Given the description of an element on the screen output the (x, y) to click on. 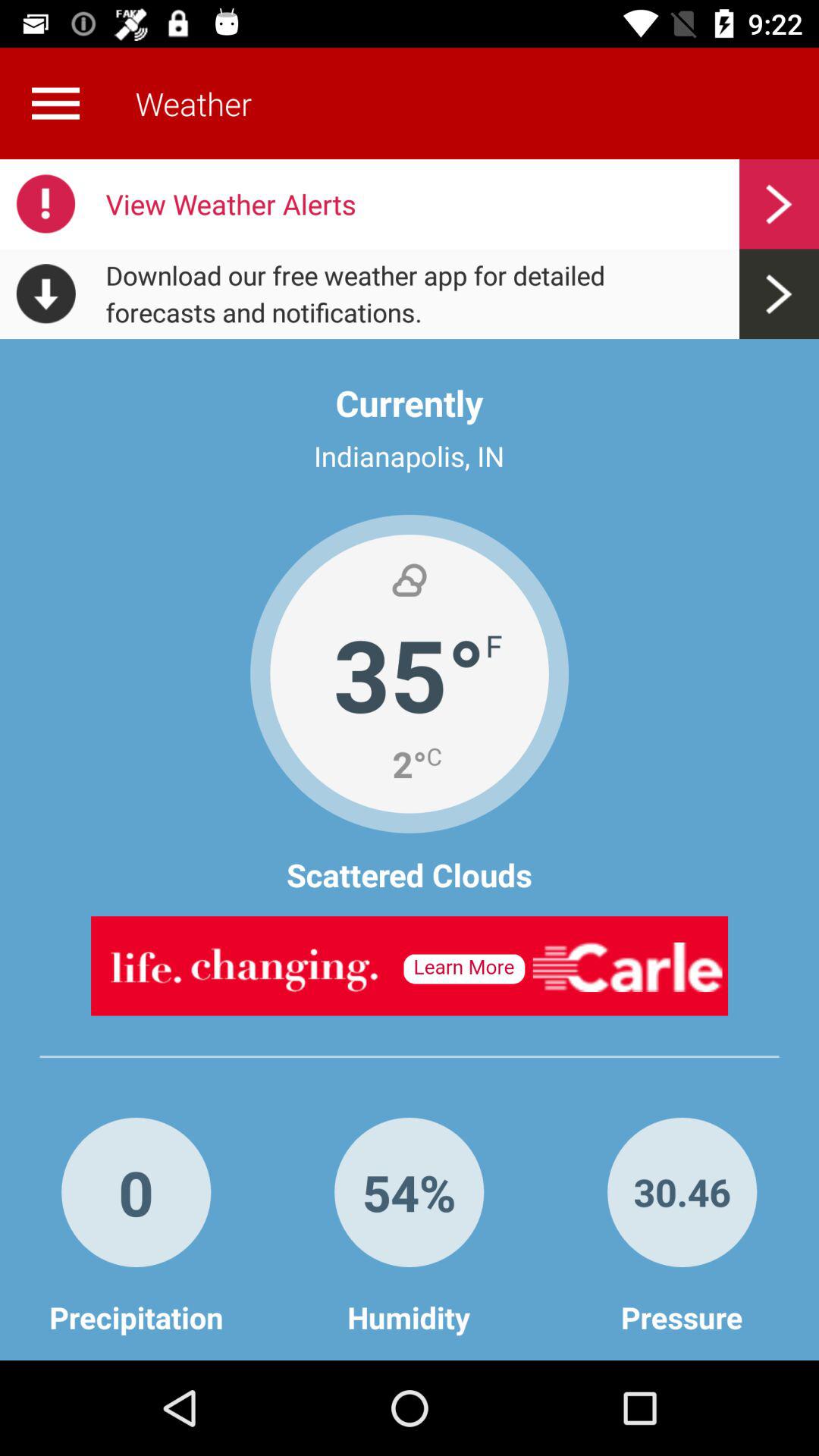
advertisement banner would take off site (409, 965)
